Given the description of an element on the screen output the (x, y) to click on. 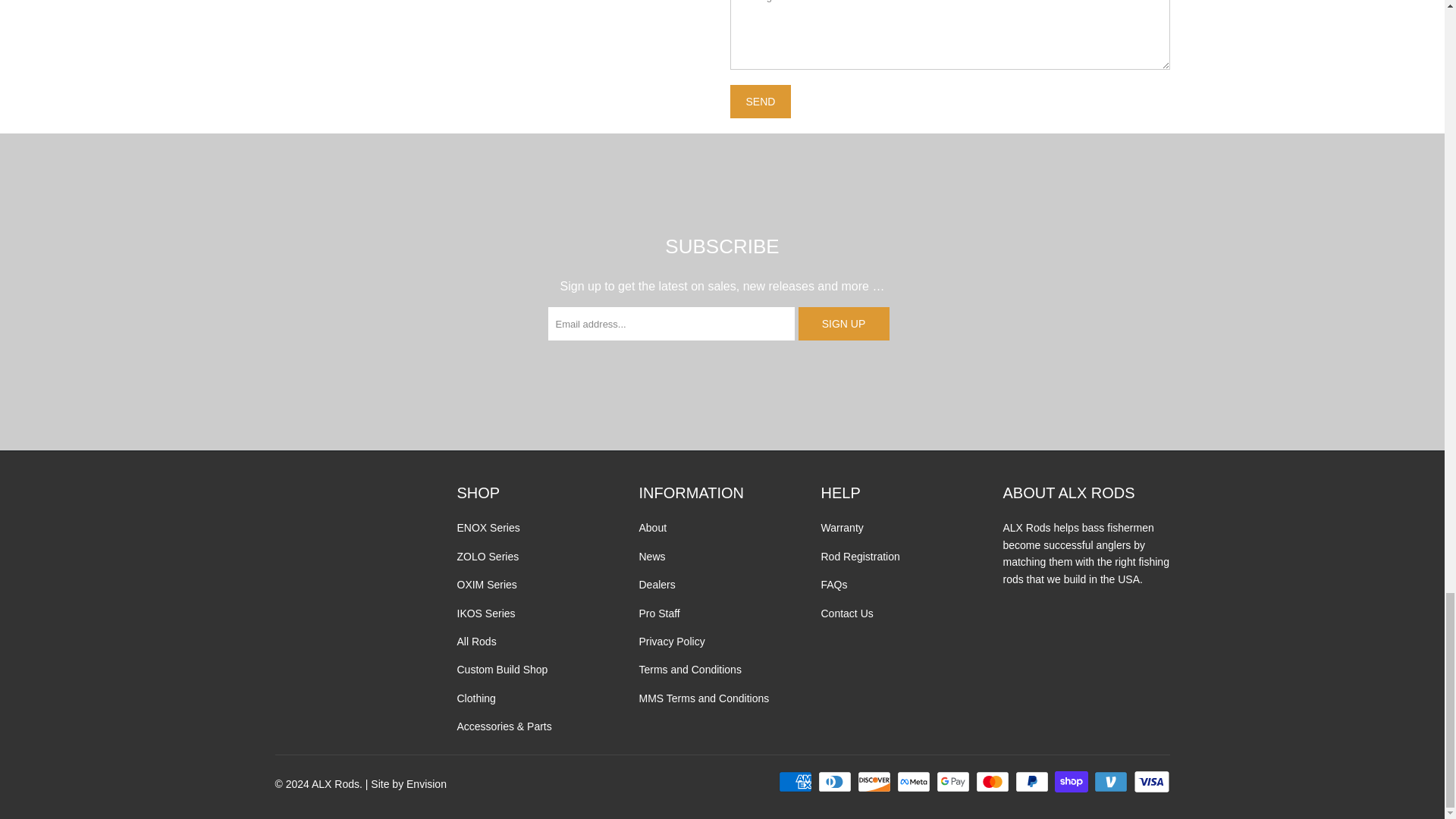
Discover (875, 781)
Venmo (1112, 781)
Google Pay (954, 781)
Diners Club (836, 781)
American Express (796, 781)
Send (759, 101)
Visa (1150, 781)
PayPal (1032, 781)
Sign Up (842, 323)
Mastercard (993, 781)
Meta Pay (914, 781)
Shop Pay (1072, 781)
